Given the description of an element on the screen output the (x, y) to click on. 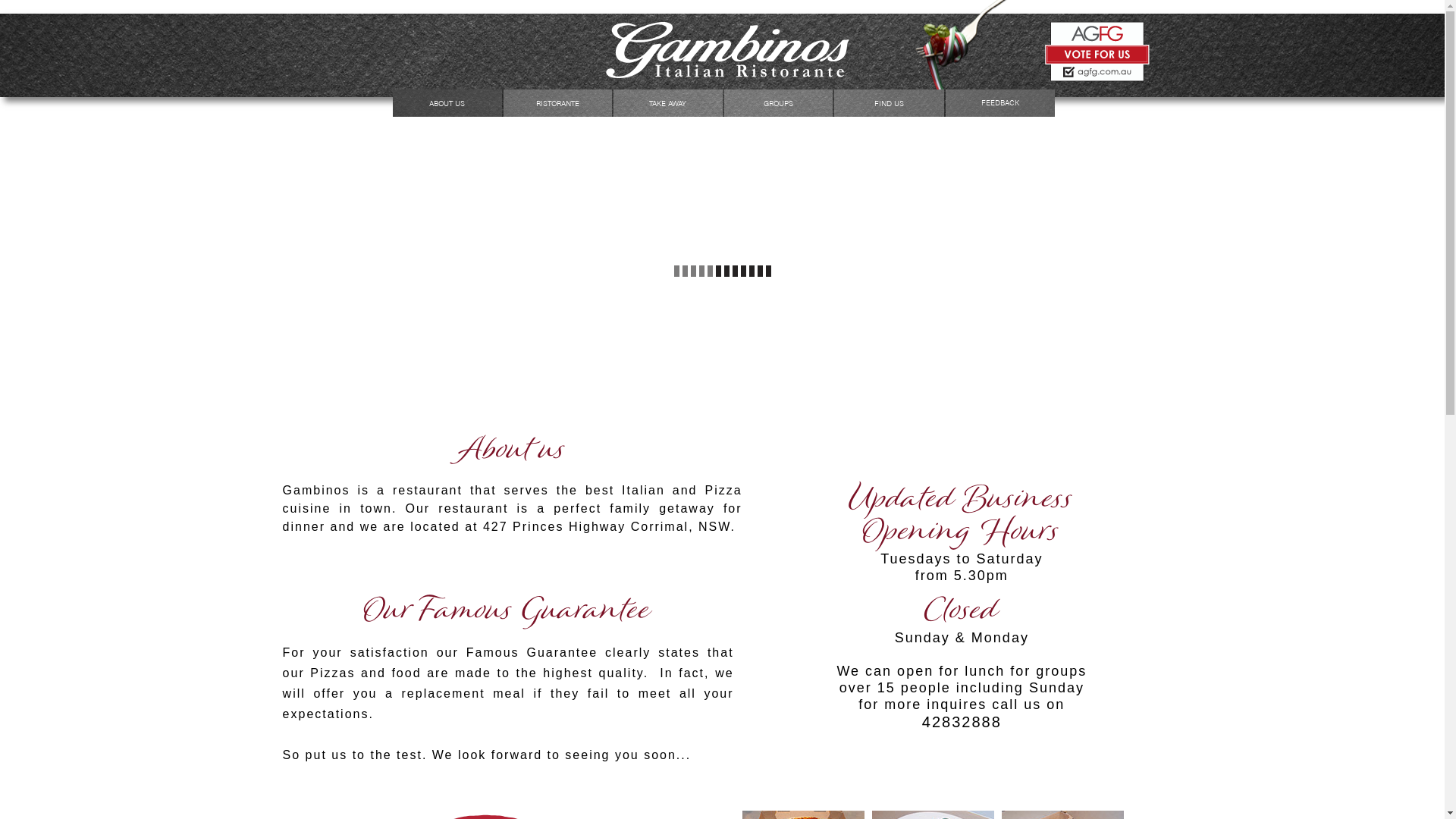
Gambinos Italian Ristorante Element type: hover (1097, 78)
TAKE AWAY Element type: text (667, 102)
ABOUT US Element type: text (447, 102)
FEEDBACK Element type: text (1000, 102)
RISTORANTE Element type: text (557, 102)
FIND US Element type: text (889, 102)
GROUPS Element type: text (778, 102)
